Given the description of an element on the screen output the (x, y) to click on. 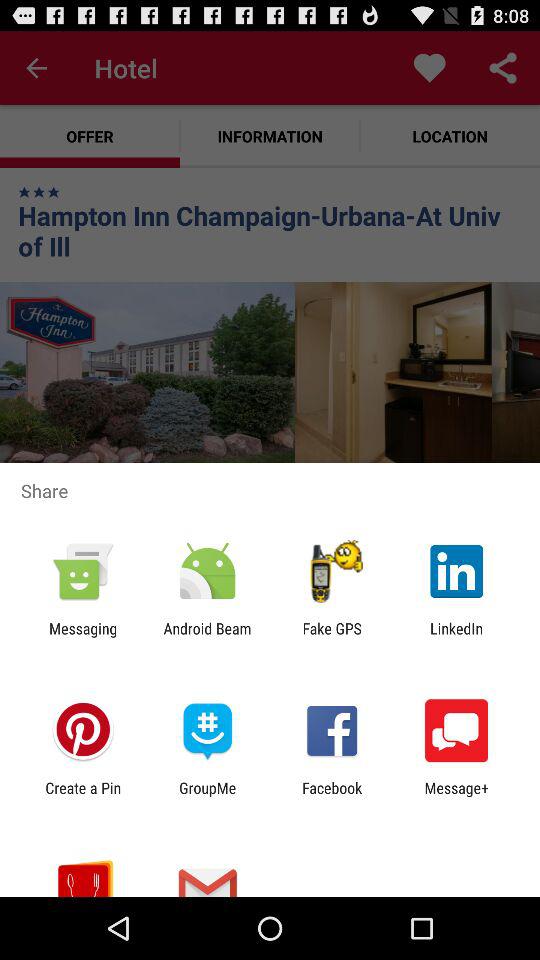
press app next to the linkedin item (331, 637)
